Given the description of an element on the screen output the (x, y) to click on. 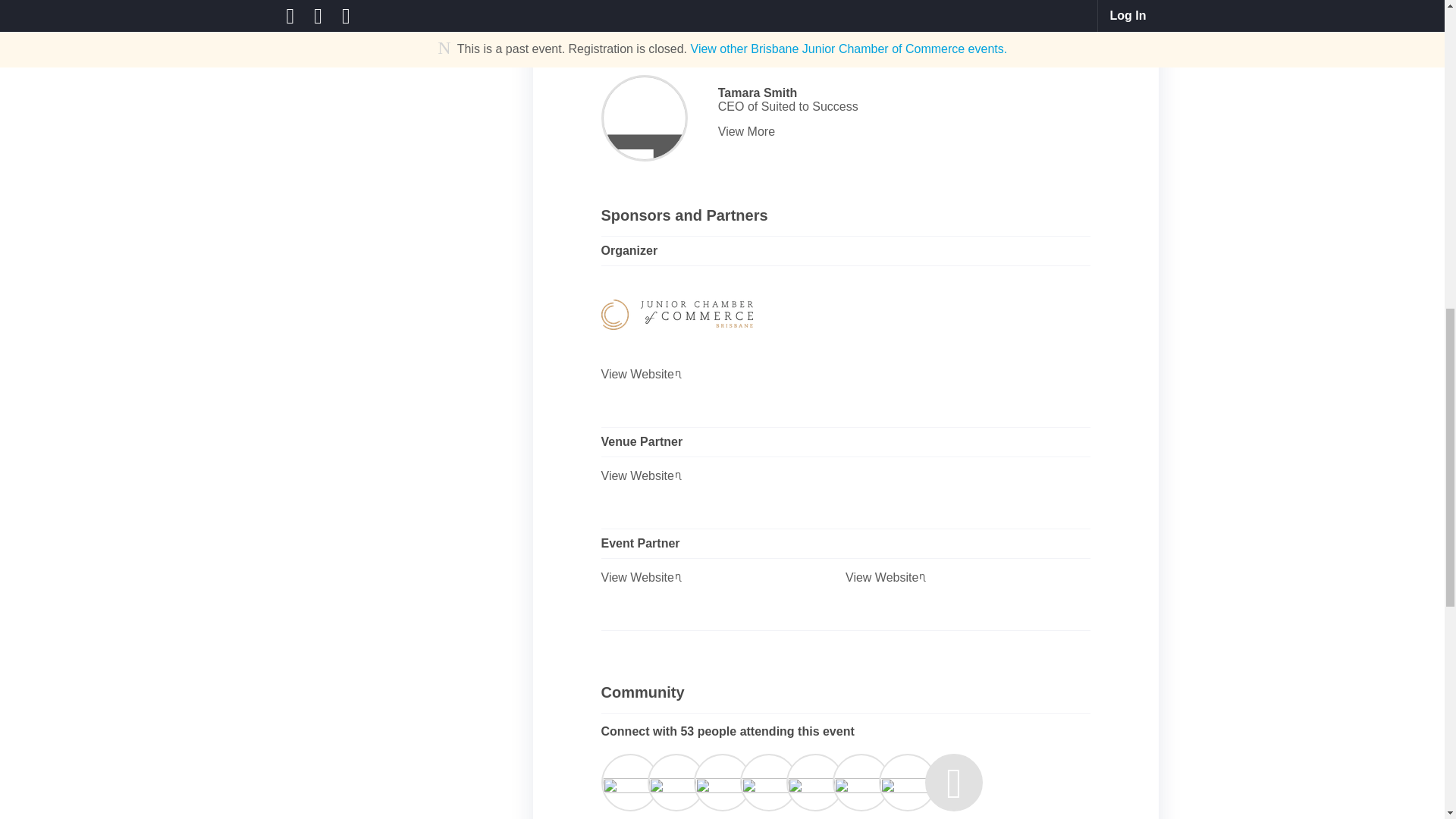
Open in new tab (679, 373)
Open in new tab (679, 474)
Open in new tab (679, 576)
